Given the description of an element on the screen output the (x, y) to click on. 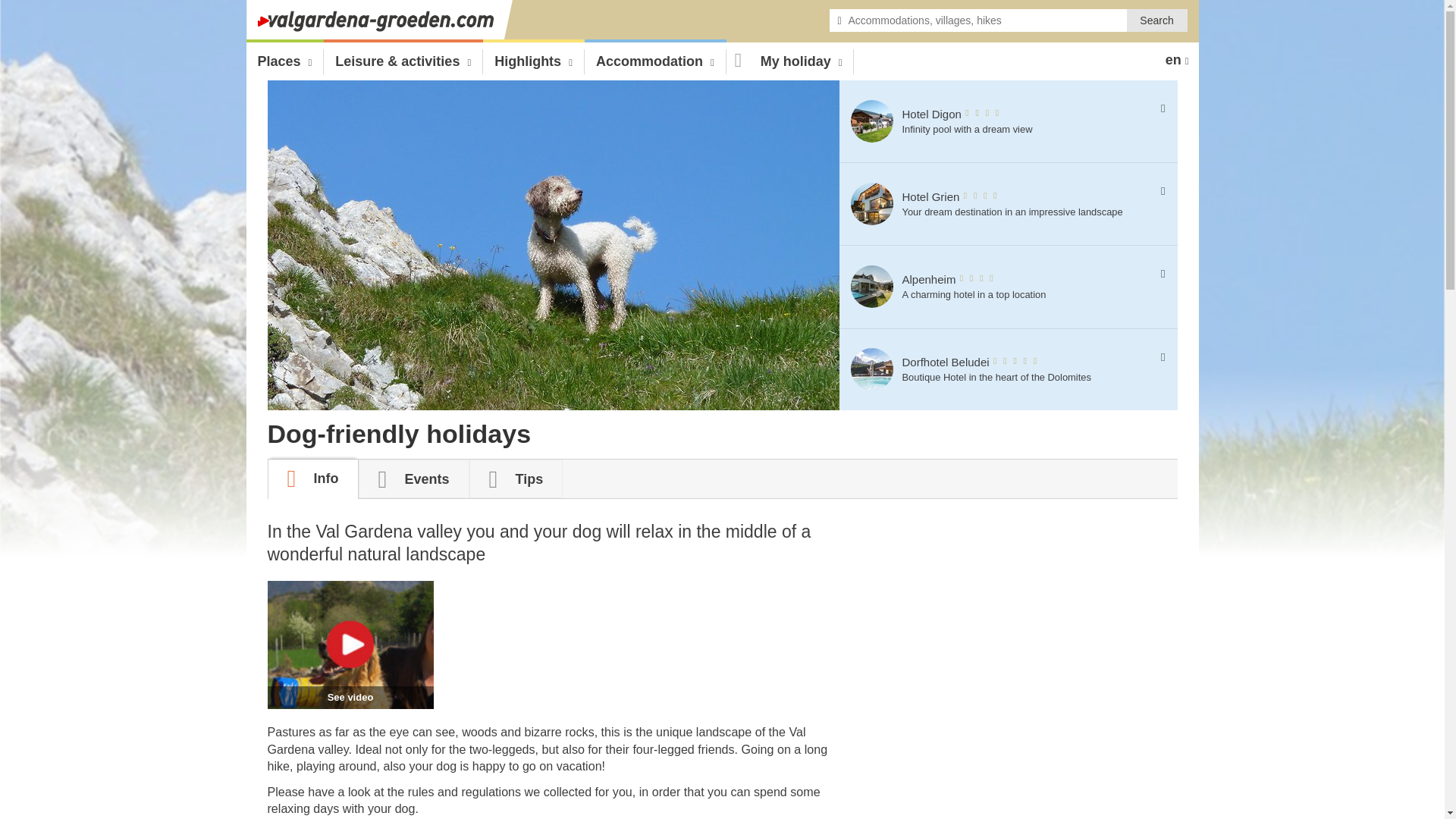
Boutique Hotel in the heart of the Dolomites (999, 121)
Infinity pool with a dream view (871, 370)
See video (871, 121)
A charming hotel in a top location (349, 743)
Places (871, 287)
Your dream destination in an impressive landscape (999, 286)
